Given the description of an element on the screen output the (x, y) to click on. 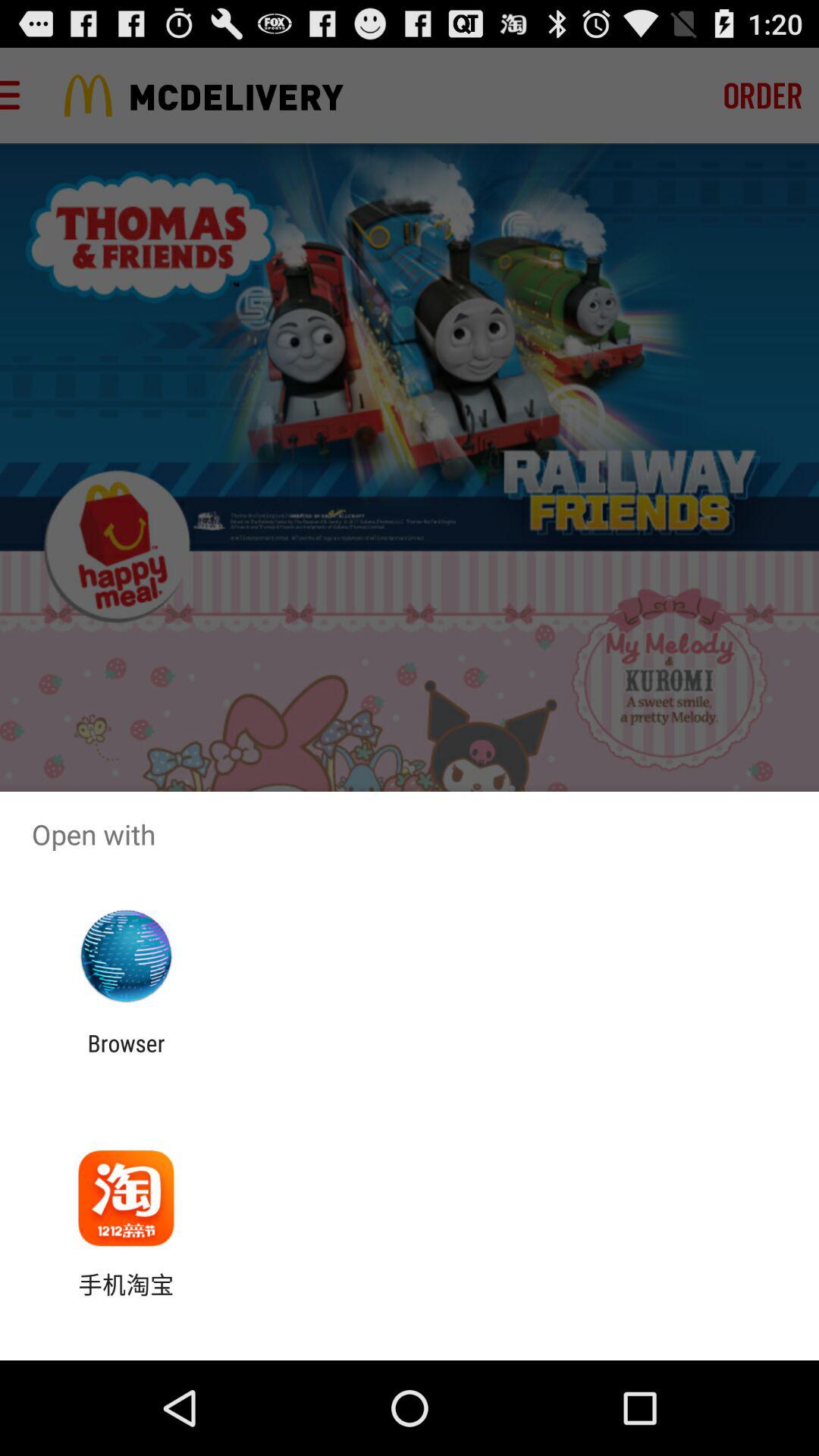
click the browser icon (125, 1056)
